Given the description of an element on the screen output the (x, y) to click on. 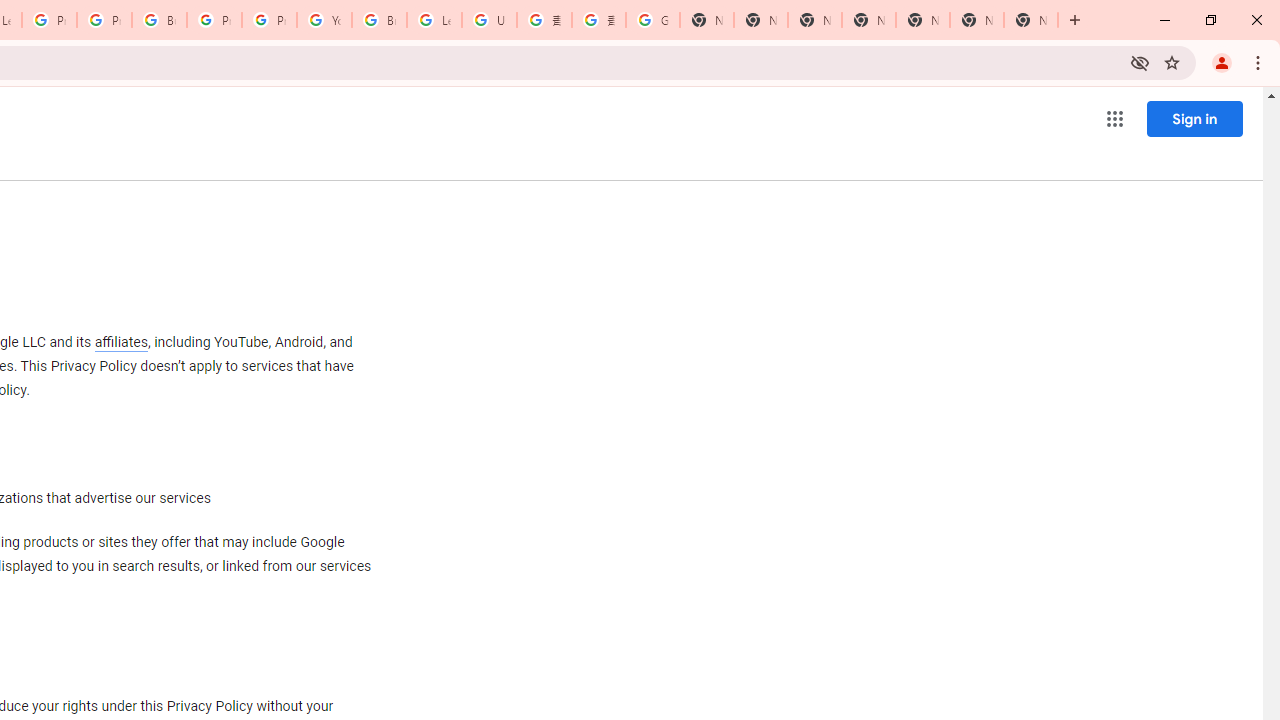
YouTube (324, 20)
Google Images (652, 20)
New Tab (1030, 20)
Privacy Help Center - Policies Help (48, 20)
